Given the description of an element on the screen output the (x, y) to click on. 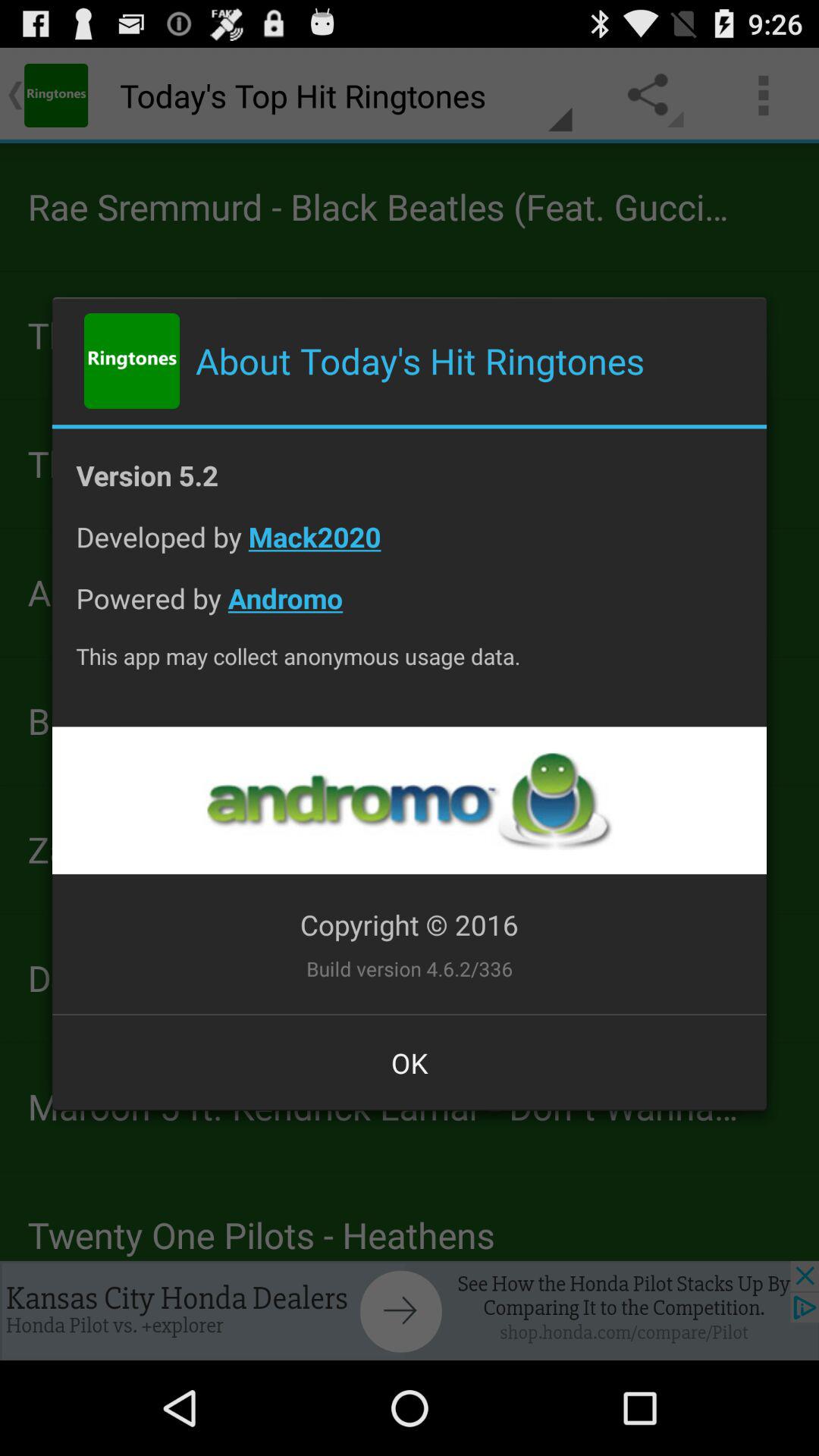
turn on the app above powered by andromo (409, 548)
